Given the description of an element on the screen output the (x, y) to click on. 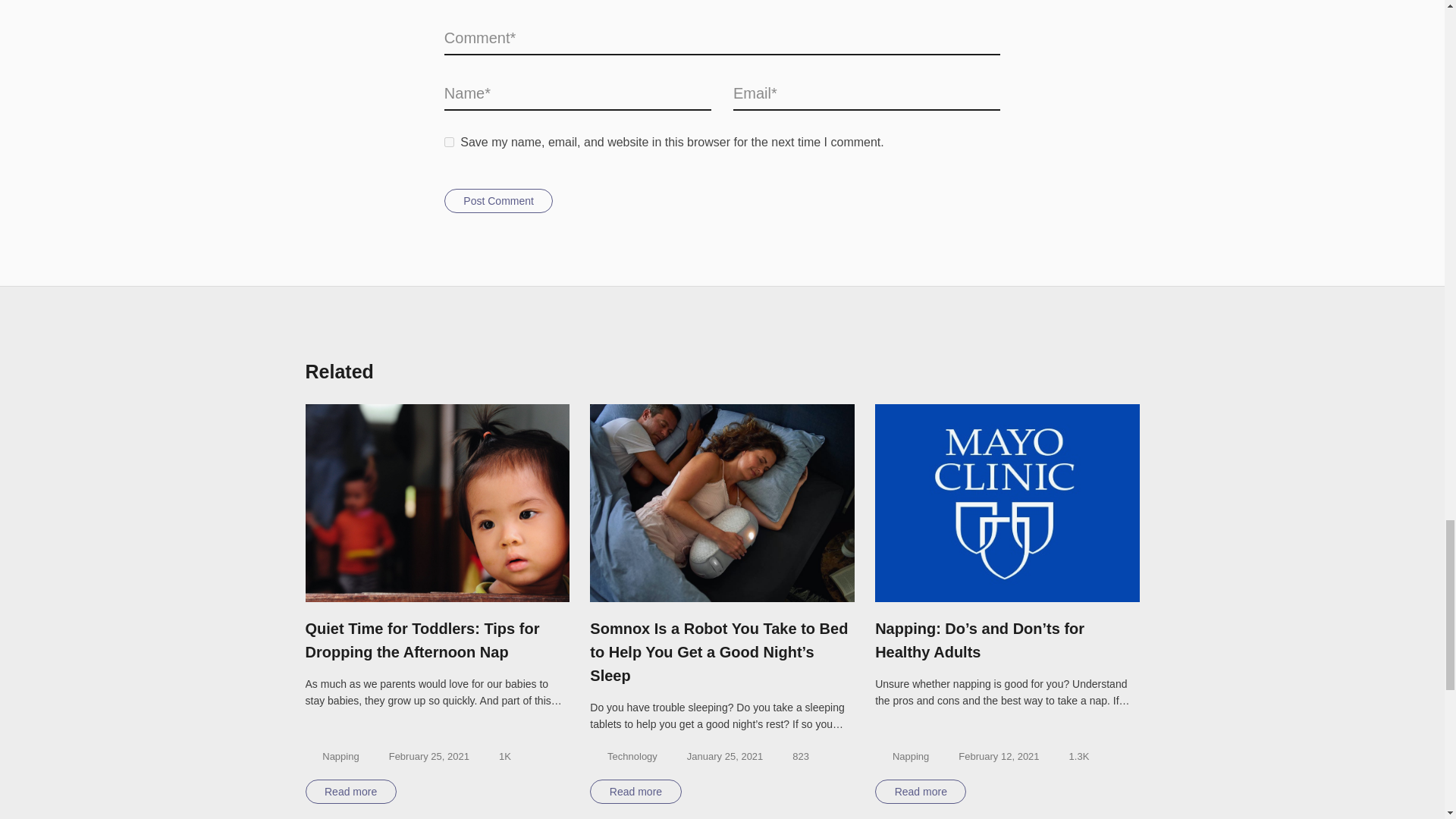
Napping (910, 756)
yes (449, 142)
Read more (635, 791)
Post Comment (498, 200)
Read more (350, 791)
Quiet Time for Toddlers: Tips for Dropping the Afternoon Nap (436, 640)
Technology (632, 756)
Napping (339, 756)
